Given the description of an element on the screen output the (x, y) to click on. 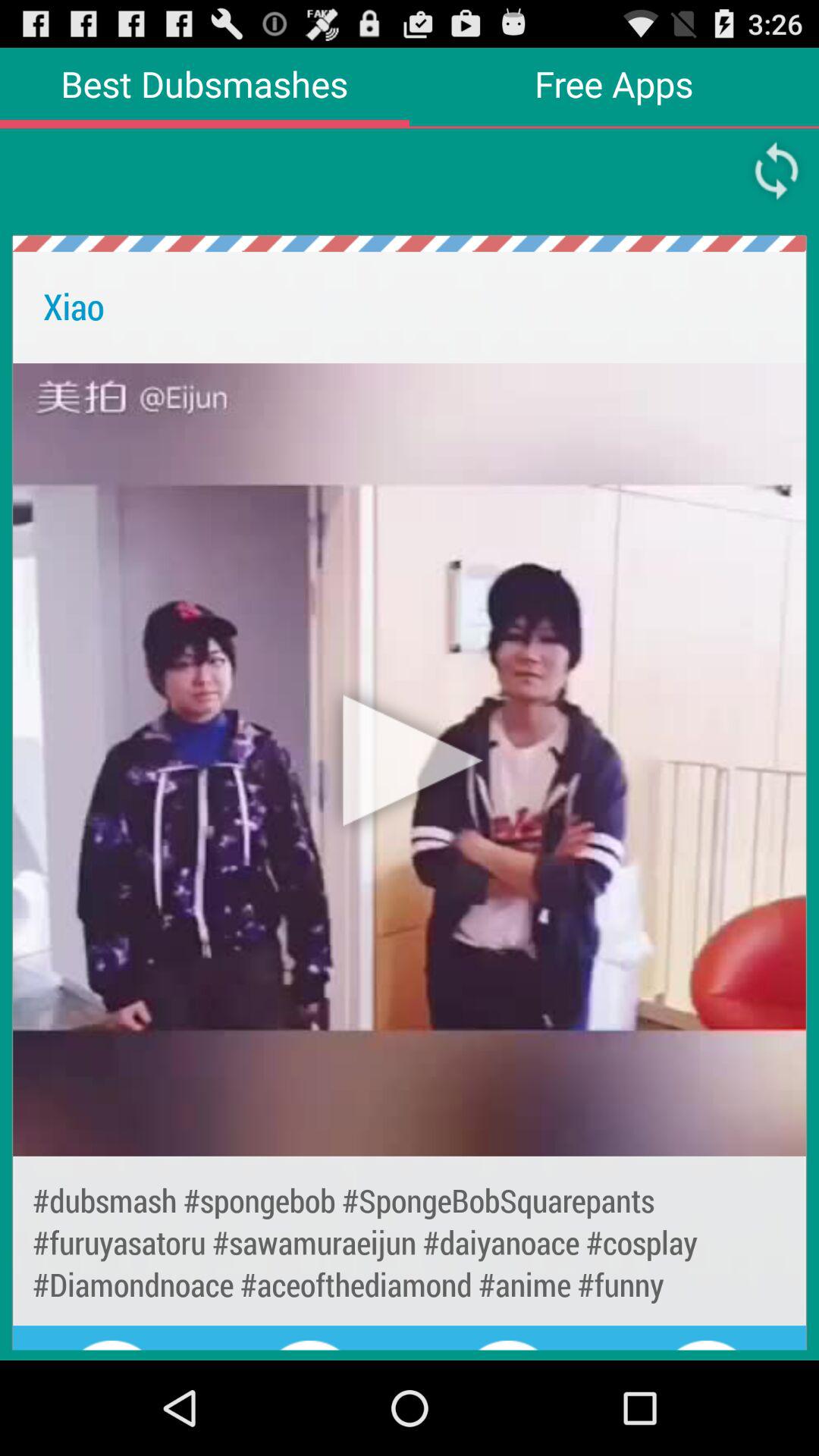
refresh (776, 170)
